Given the description of an element on the screen output the (x, y) to click on. 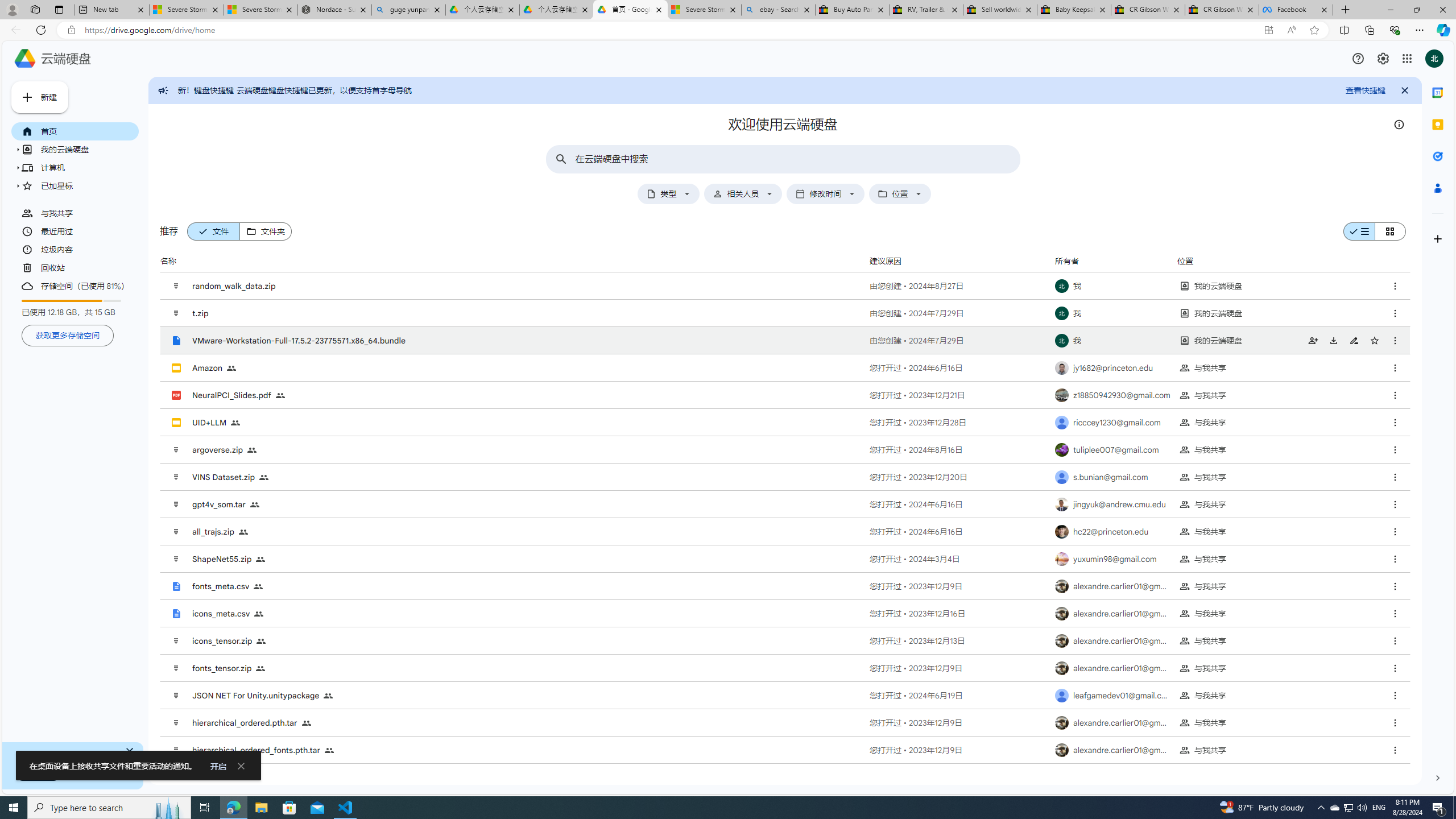
Class:  c-qd a-s-fa-Ha-pa BMAFpd (1395, 750)
Class: a-s-fa-Ha-pa c-qd BMAFpd (1375, 340)
